Given the description of an element on the screen output the (x, y) to click on. 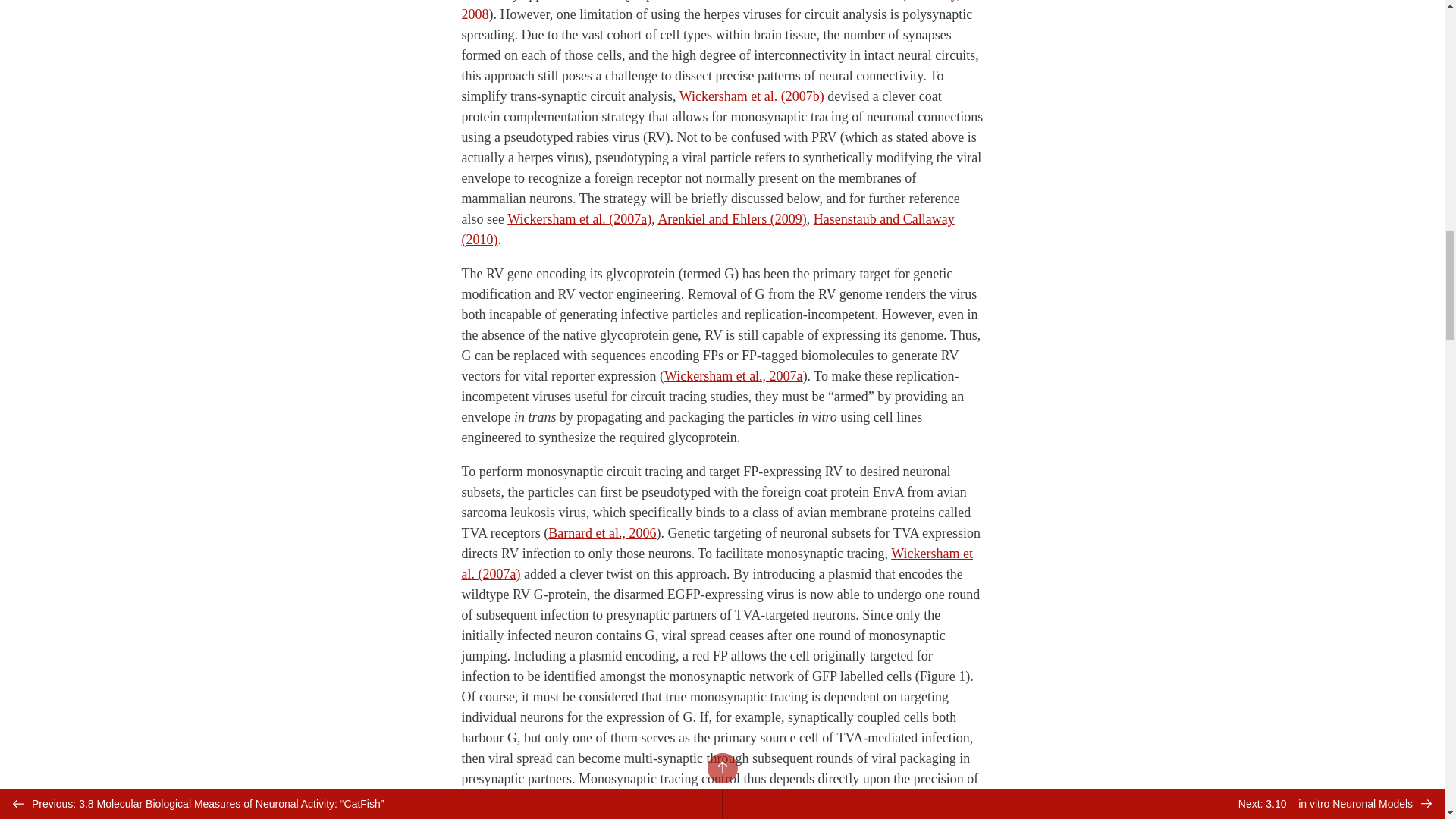
Wickersham et al., 2007a (733, 376)
Callaway, 2008 (710, 11)
Barnard et al., 2006 (602, 532)
